Given the description of an element on the screen output the (x, y) to click on. 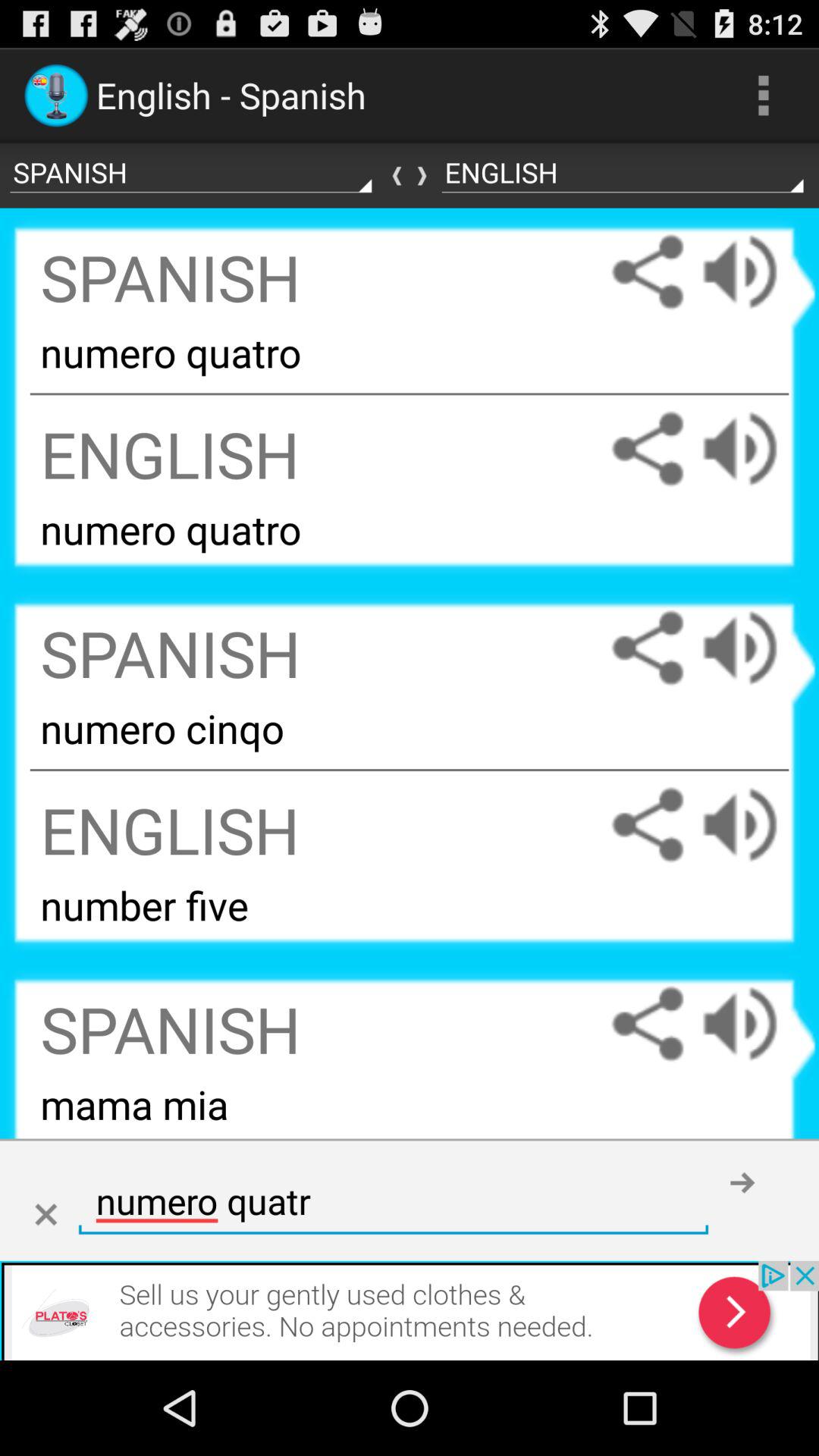
share the article (647, 271)
